Given the description of an element on the screen output the (x, y) to click on. 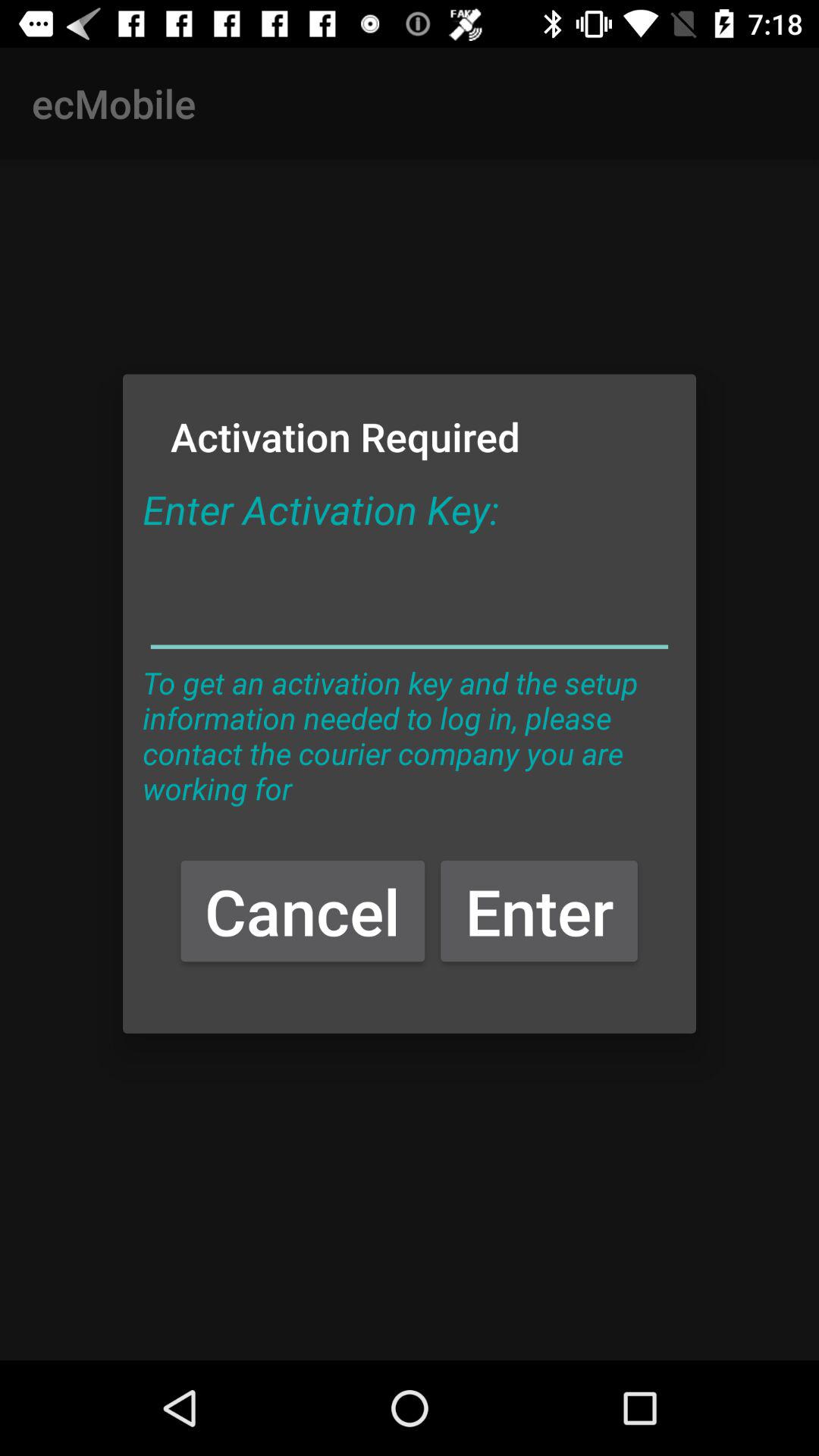
click the cancel (302, 910)
